Given the description of an element on the screen output the (x, y) to click on. 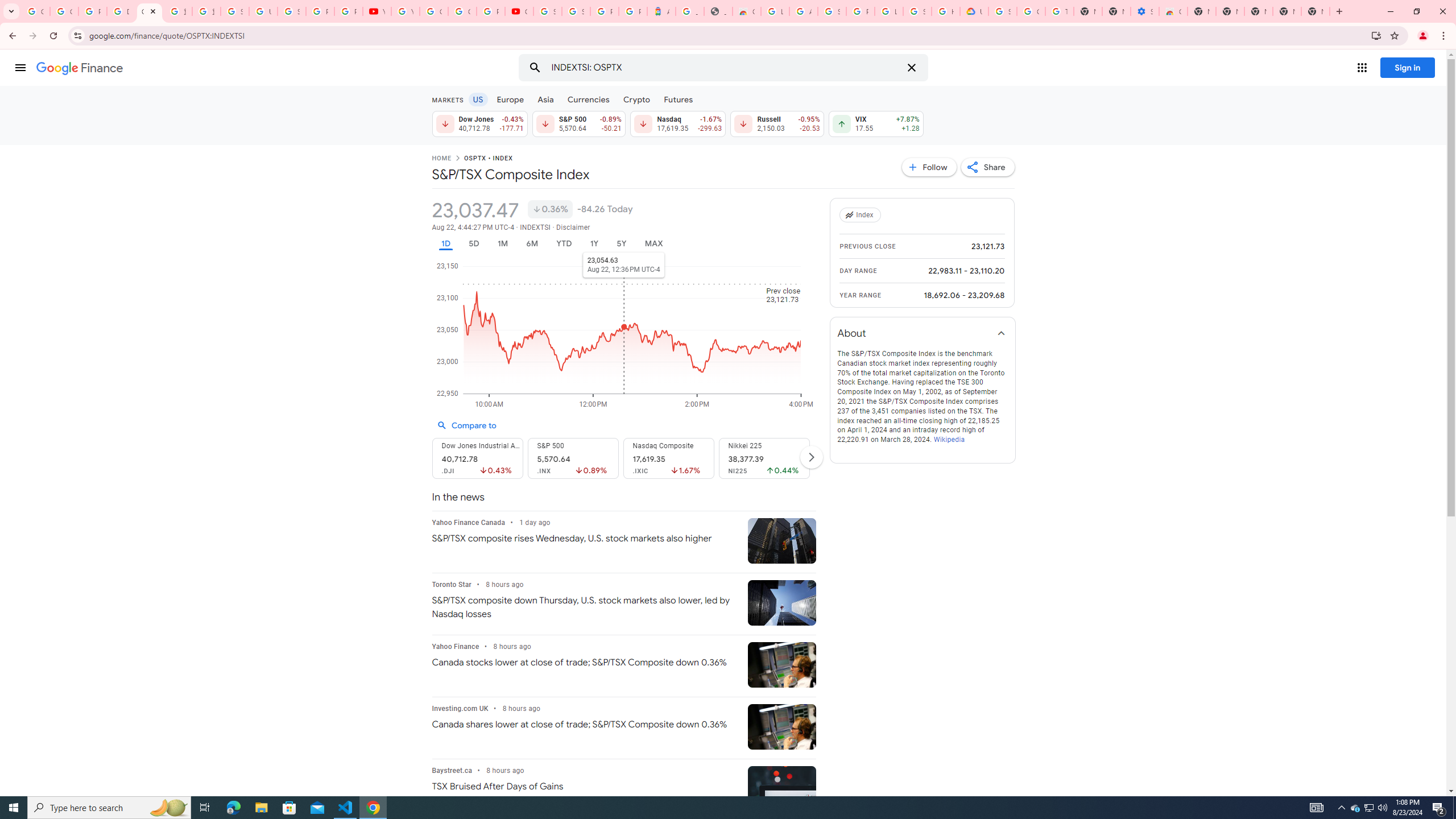
Chrome Web Store - Household (746, 11)
6M (531, 243)
Settings - Accessibility (1144, 11)
Clear search (911, 67)
1M (501, 243)
YTD (563, 243)
Currencies (588, 99)
Nasdaq 17,619.35 Down by 1.67% -299.63 (678, 123)
